Given the description of an element on the screen output the (x, y) to click on. 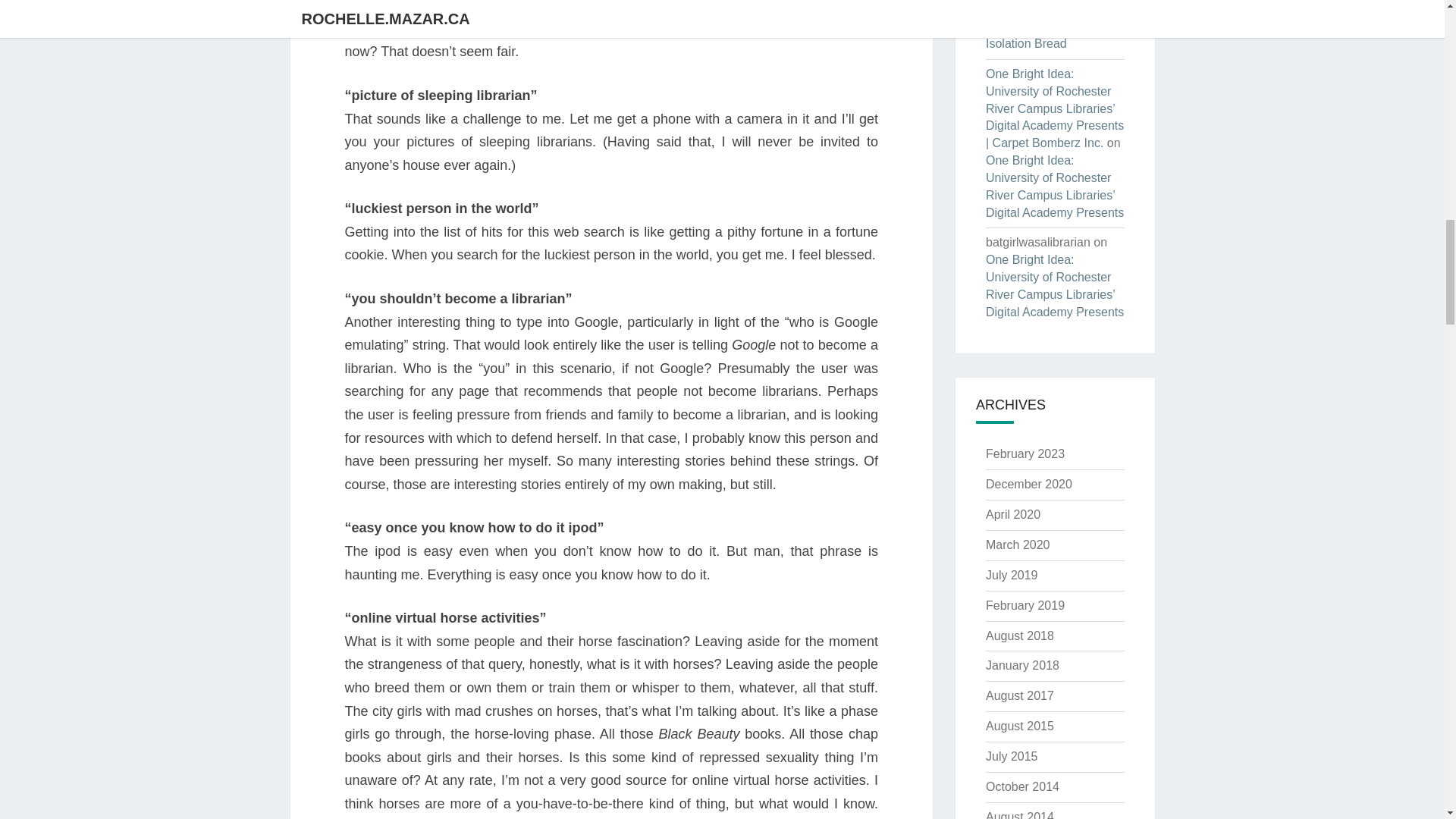
December 2020 (1028, 483)
April 2020 (1013, 513)
Self-Isolation Bread (1042, 34)
February 2023 (1024, 453)
July 2019 (1011, 574)
March 2020 (1017, 544)
Self-Isolation Bread (1053, 1)
